Given the description of an element on the screen output the (x, y) to click on. 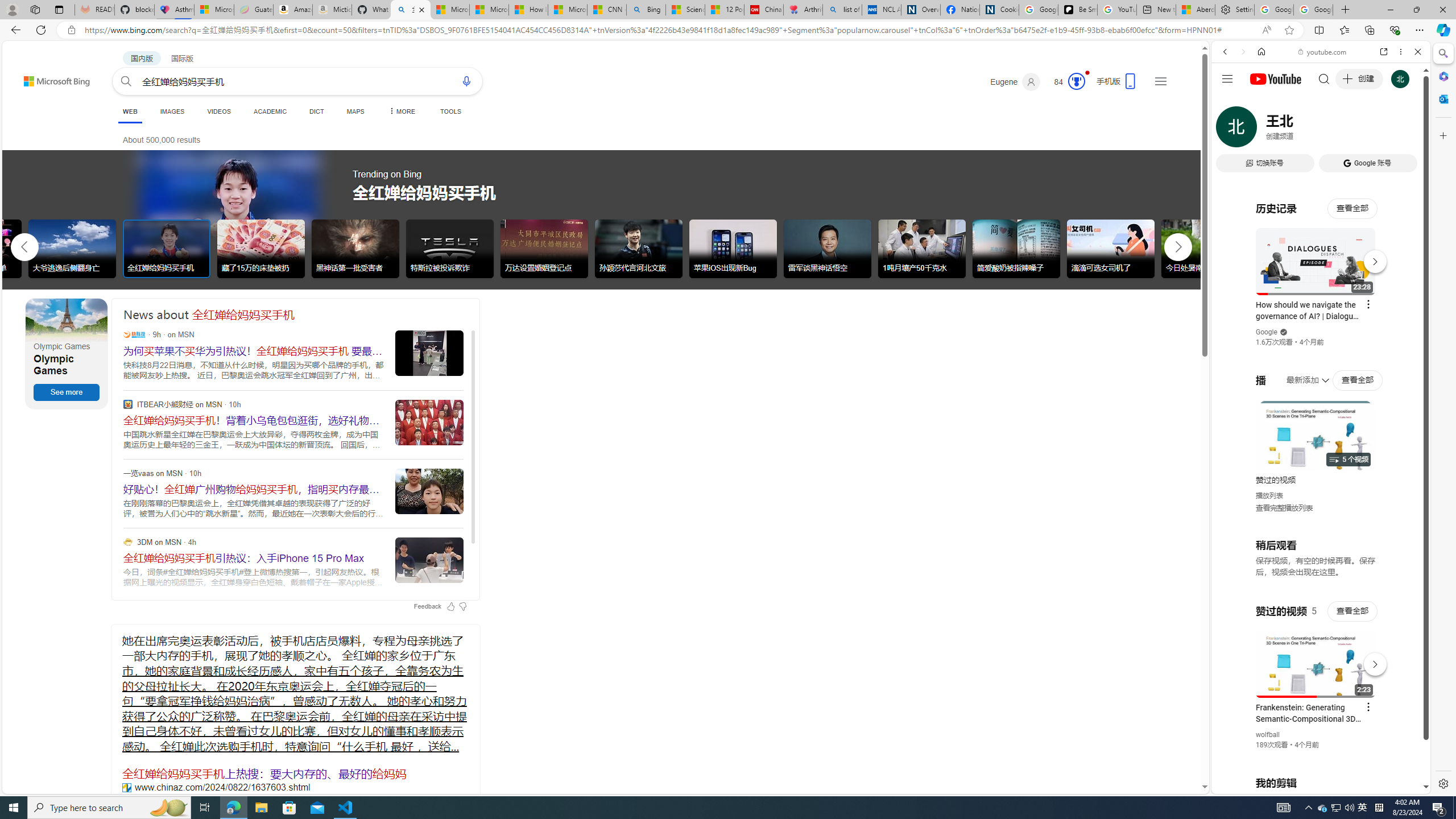
IMAGES (1262, 130)
AutomationID: rh_meter (1076, 80)
Arthritis: Ask Health Professionals (802, 9)
Search Filter, WEB (1230, 129)
Asthma Inhalers: Names and Types (174, 9)
